Given the description of an element on the screen output the (x, y) to click on. 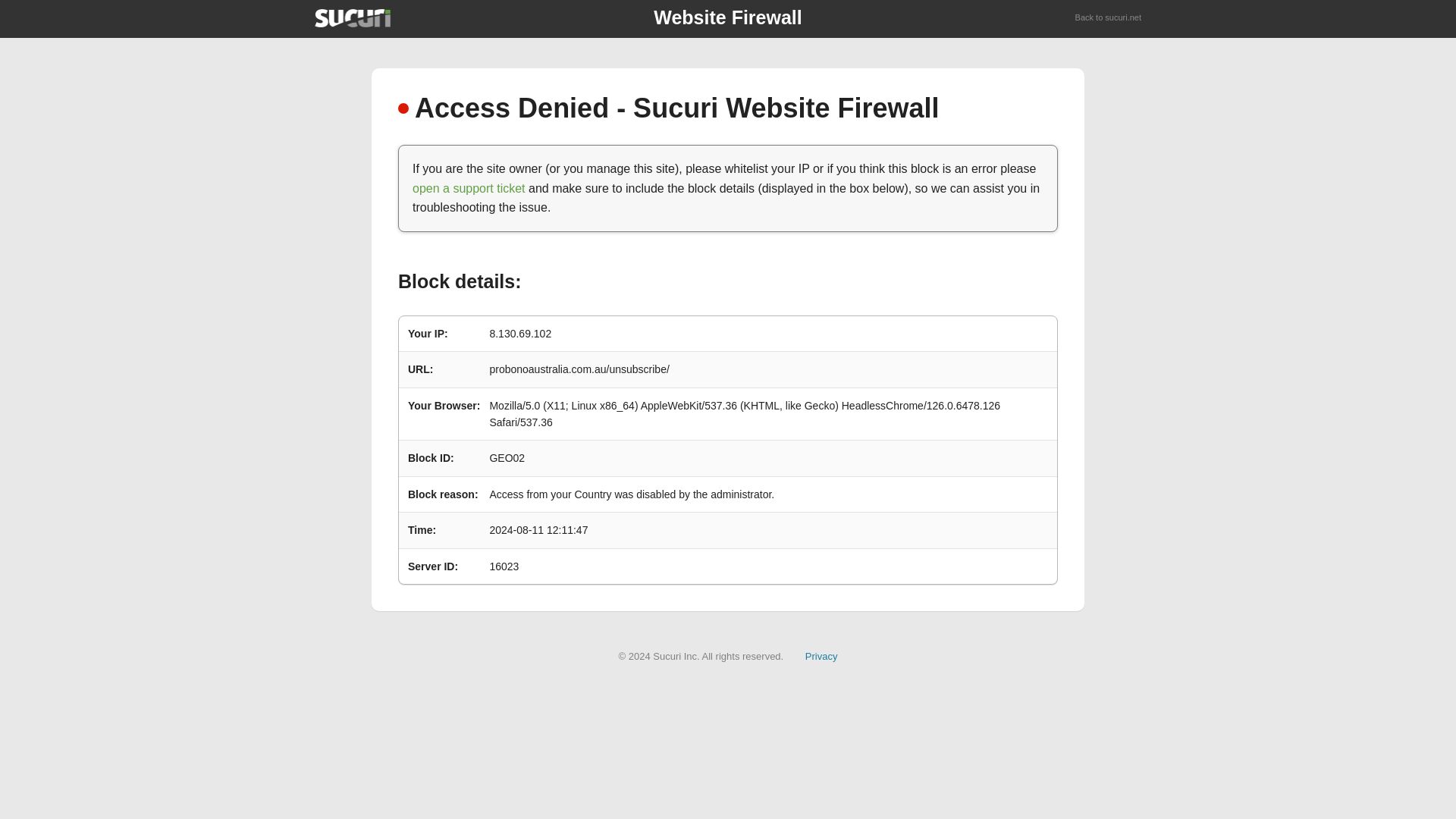
Back to sucuri.net (1108, 18)
Privacy (821, 655)
open a support ticket (468, 187)
